Given the description of an element on the screen output the (x, y) to click on. 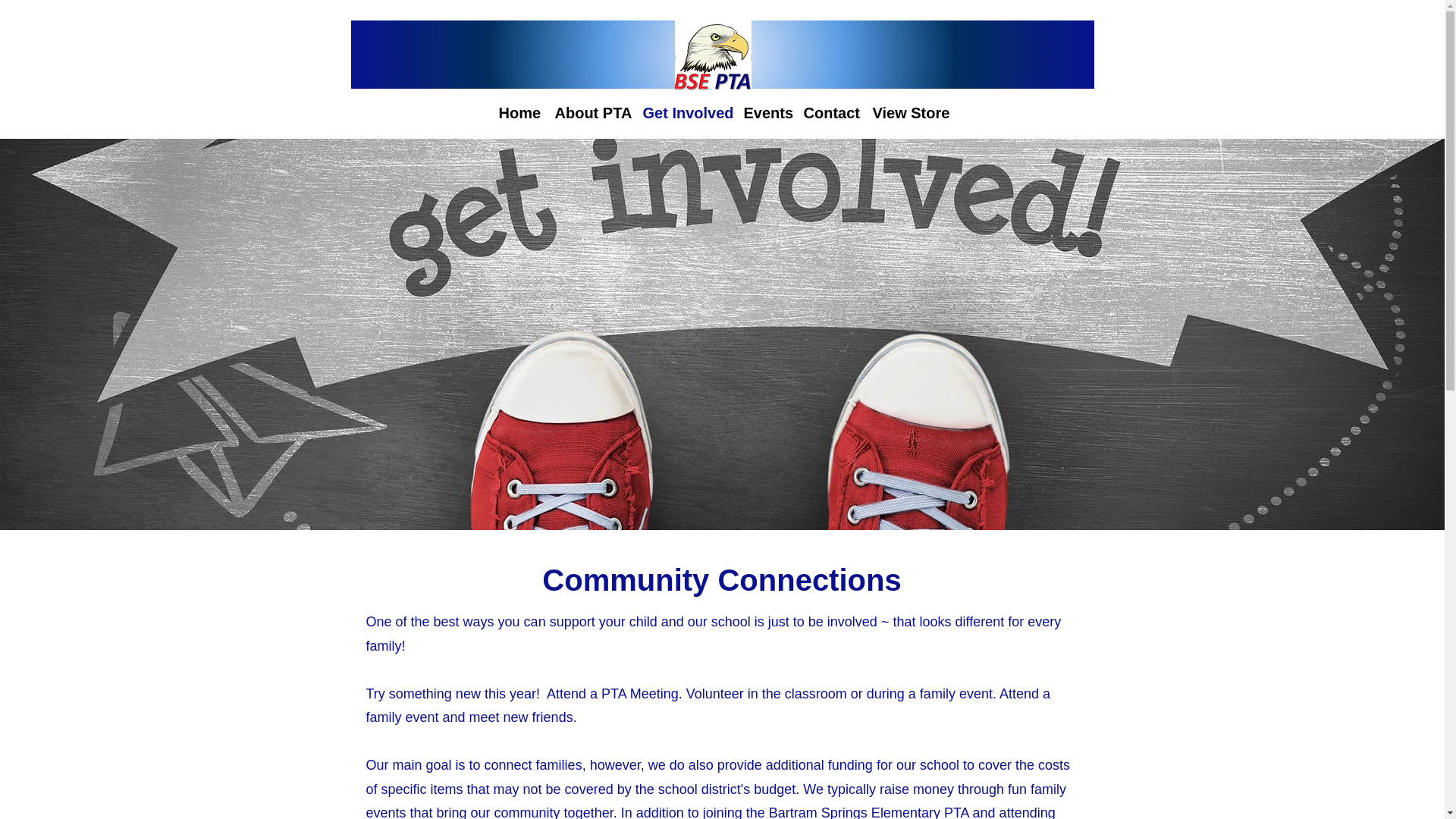
Get Involved (685, 110)
View Store (908, 110)
Events (764, 110)
Home (519, 110)
Contact (830, 110)
About PTA (590, 110)
